Given the description of an element on the screen output the (x, y) to click on. 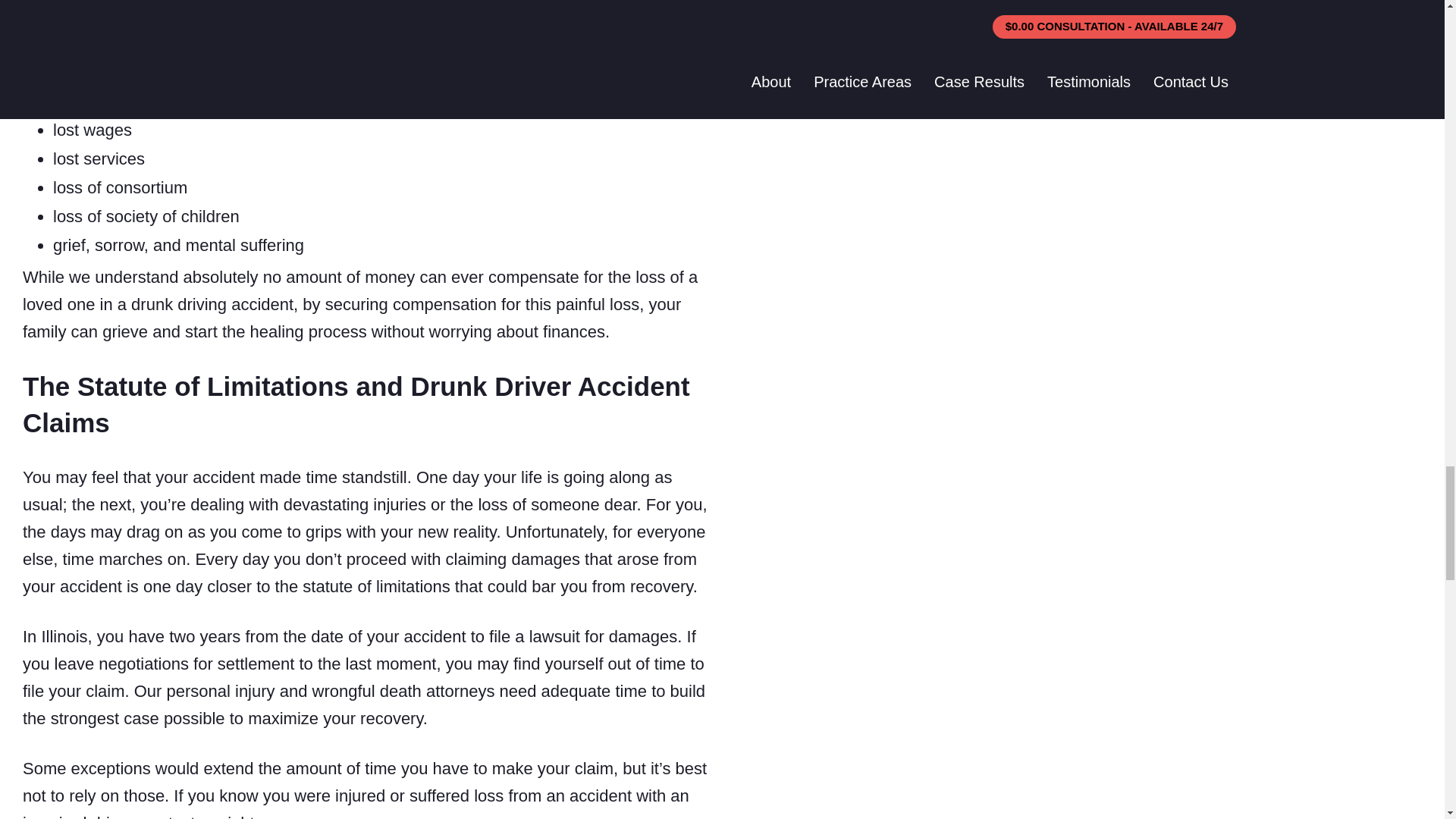
What is pain and suffering in a personal injury case? (119, 23)
Illinois Wrongful Death Injury Lawyers (170, 82)
wrongful death (170, 82)
pain and suffering (119, 23)
